Given the description of an element on the screen output the (x, y) to click on. 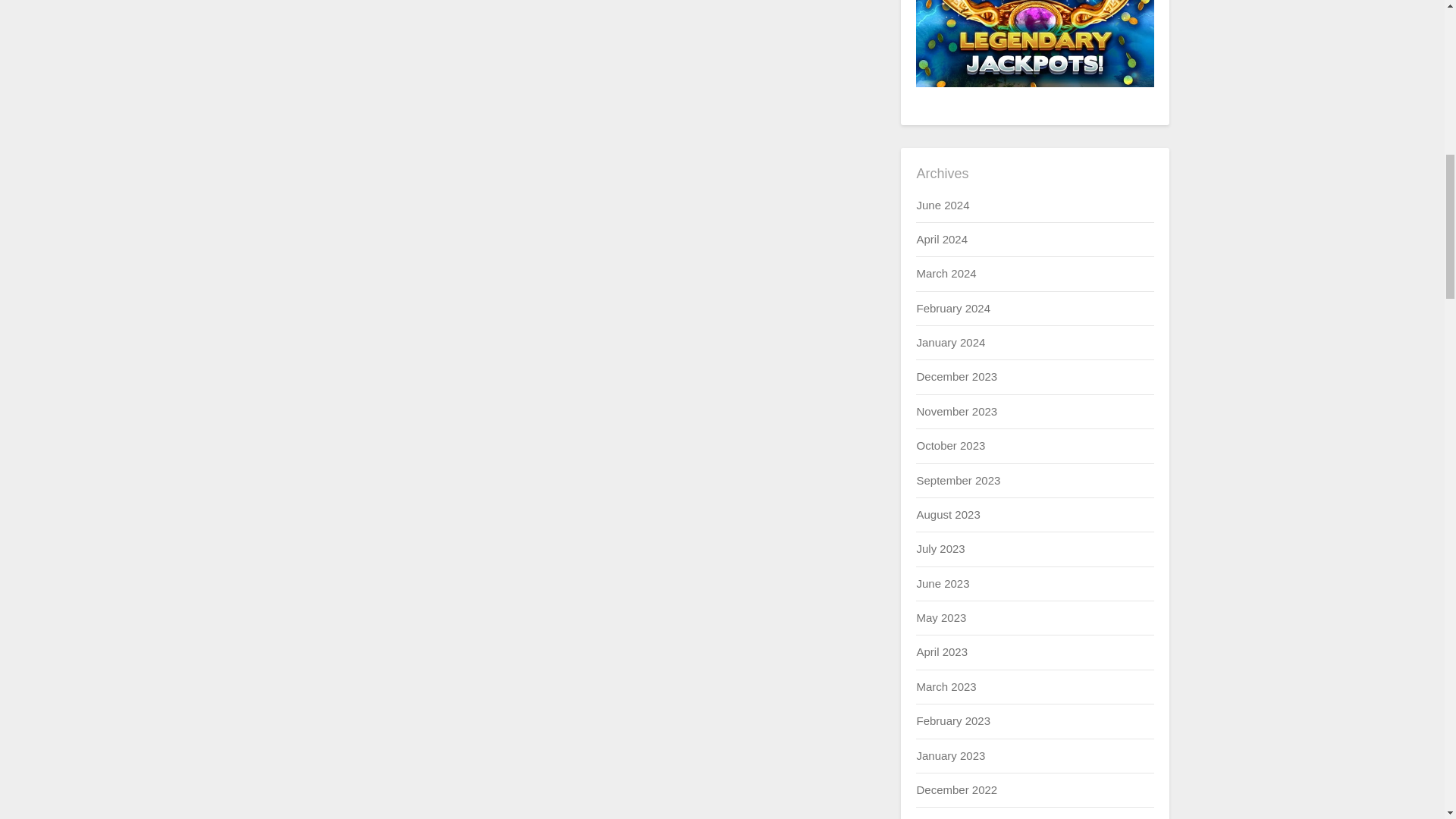
April 2023 (941, 651)
December 2023 (956, 376)
March 2024 (945, 273)
October 2023 (950, 445)
July 2023 (939, 548)
September 2023 (957, 480)
January 2023 (950, 755)
March 2023 (945, 686)
February 2024 (952, 308)
February 2023 (952, 720)
